Given the description of an element on the screen output the (x, y) to click on. 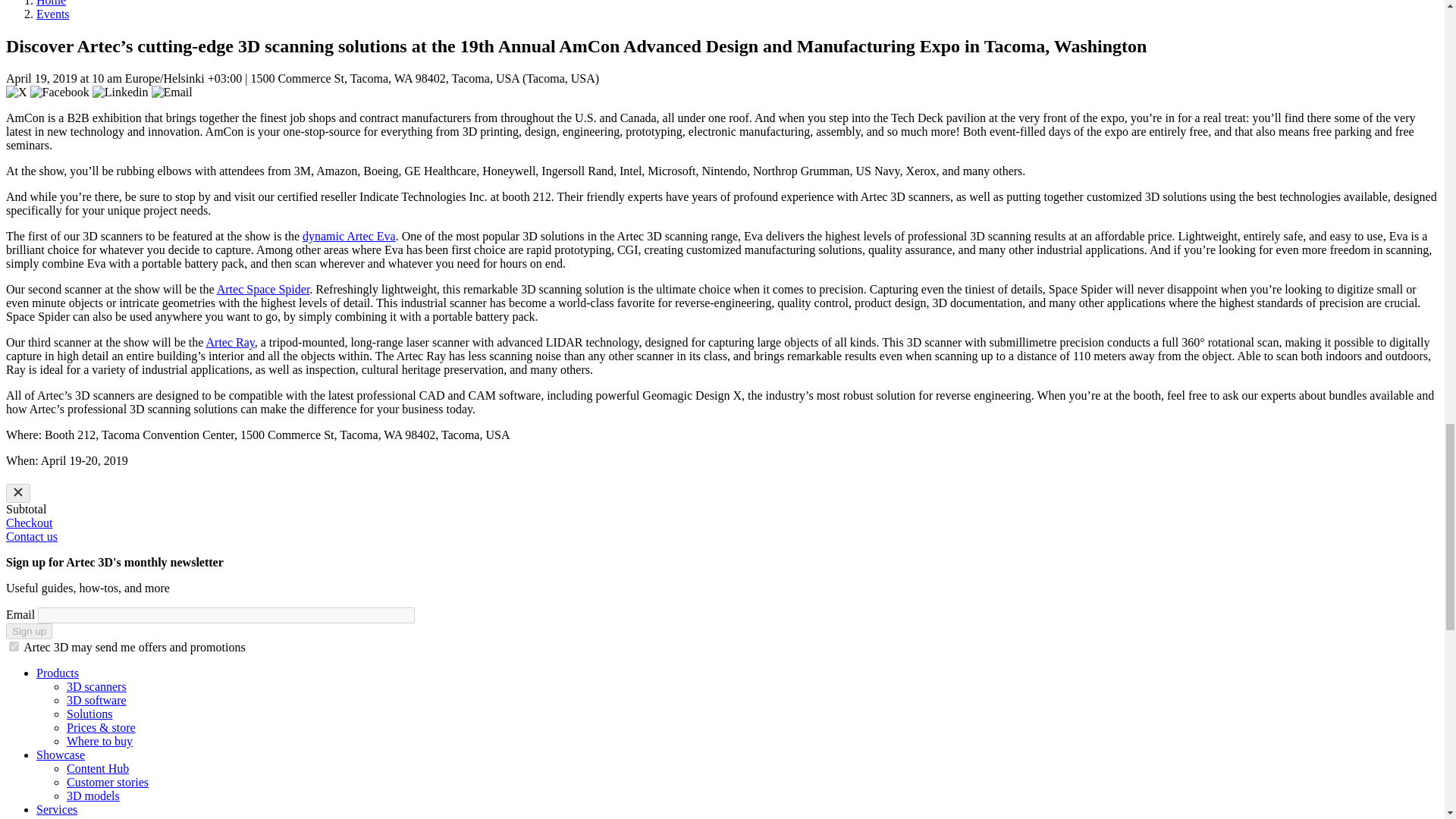
1 (13, 646)
Sign up (28, 631)
Home (50, 3)
Events (52, 13)
